Given the description of an element on the screen output the (x, y) to click on. 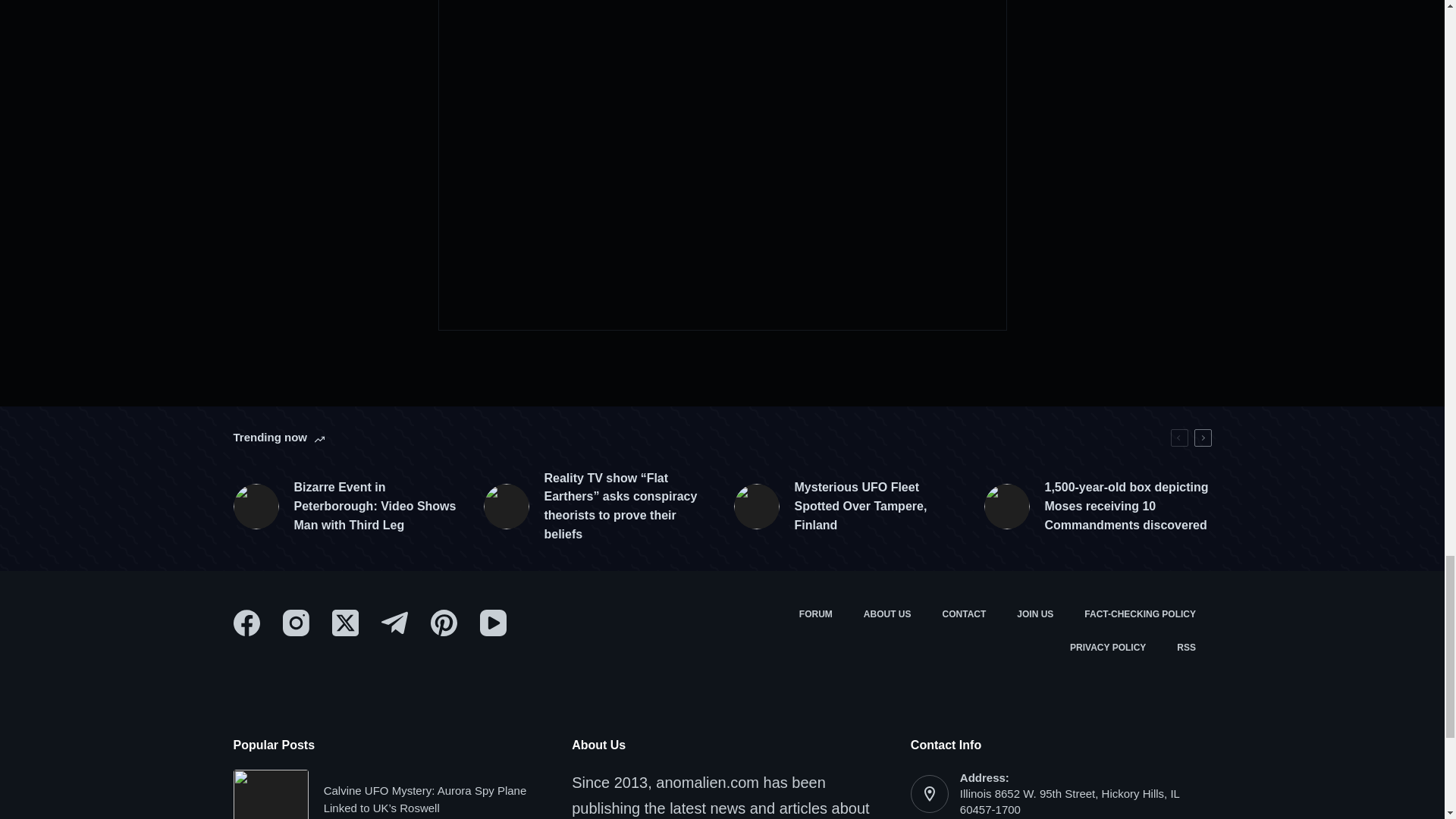
Contact us (964, 614)
Discussion Forum (815, 614)
